Given the description of an element on the screen output the (x, y) to click on. 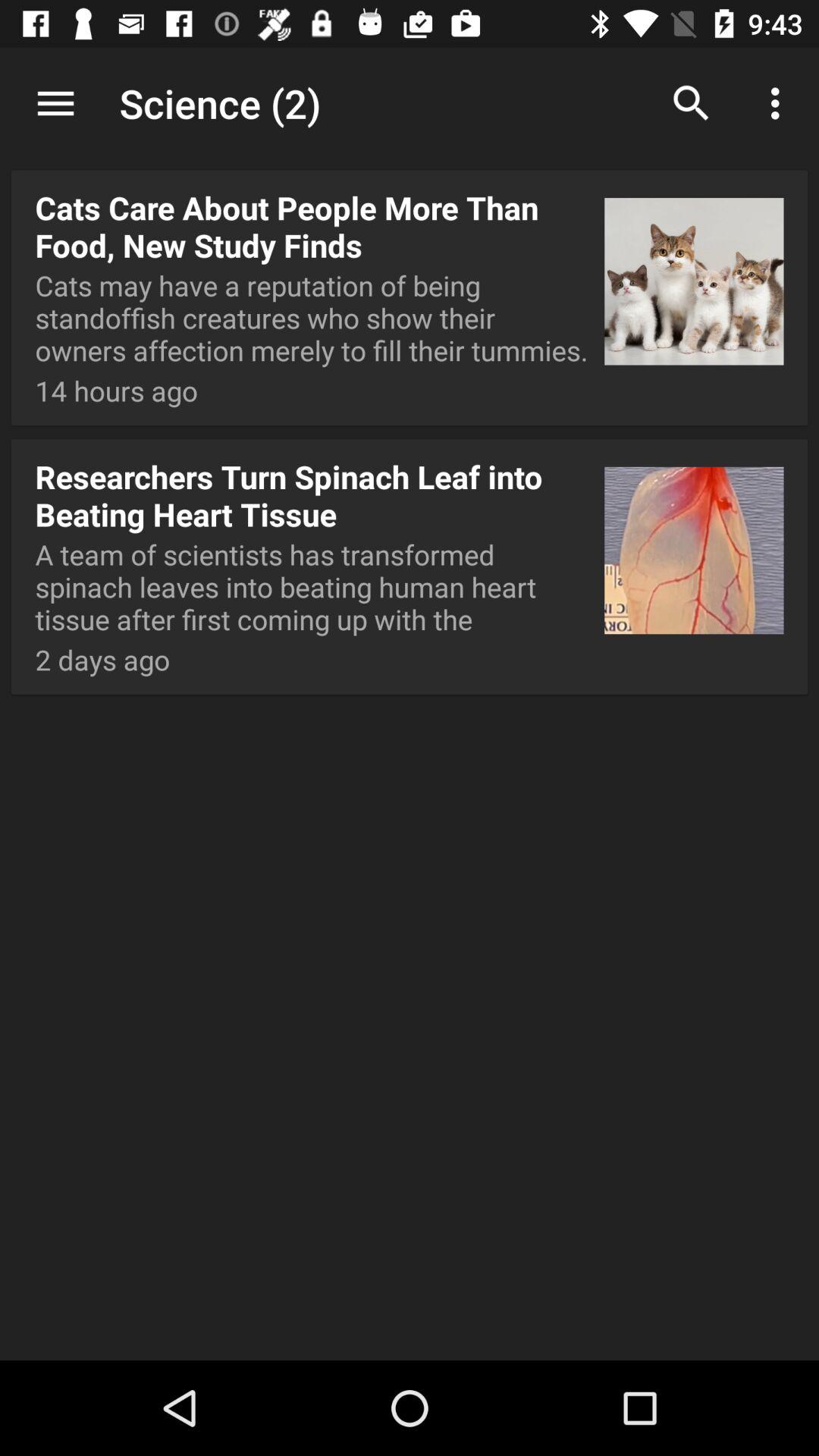
choose the app above the cats care about app (409, 105)
